Given the description of an element on the screen output the (x, y) to click on. 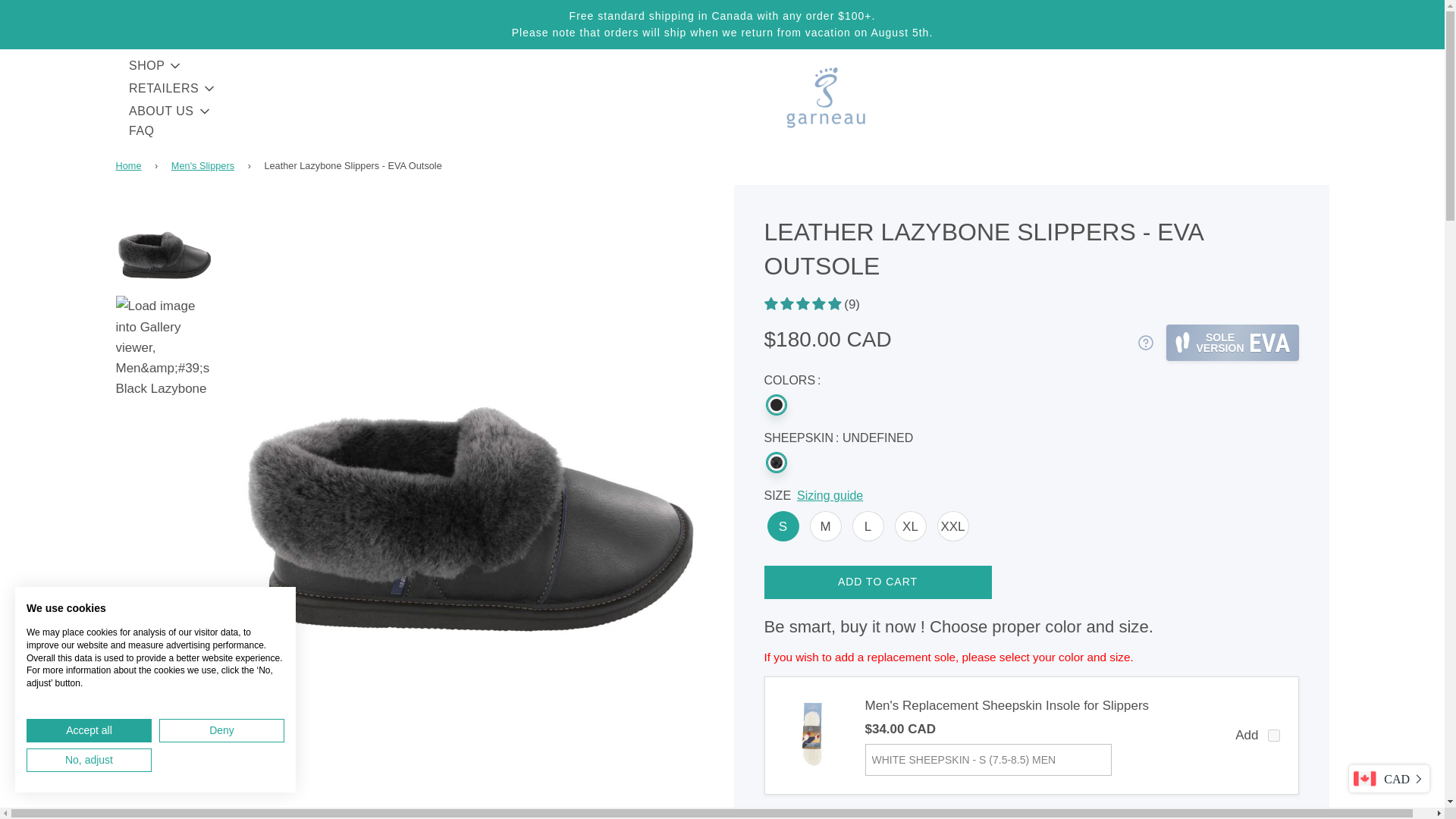
Log in (1453, 83)
on (1273, 735)
Back to the frontpage (131, 165)
